Given the description of an element on the screen output the (x, y) to click on. 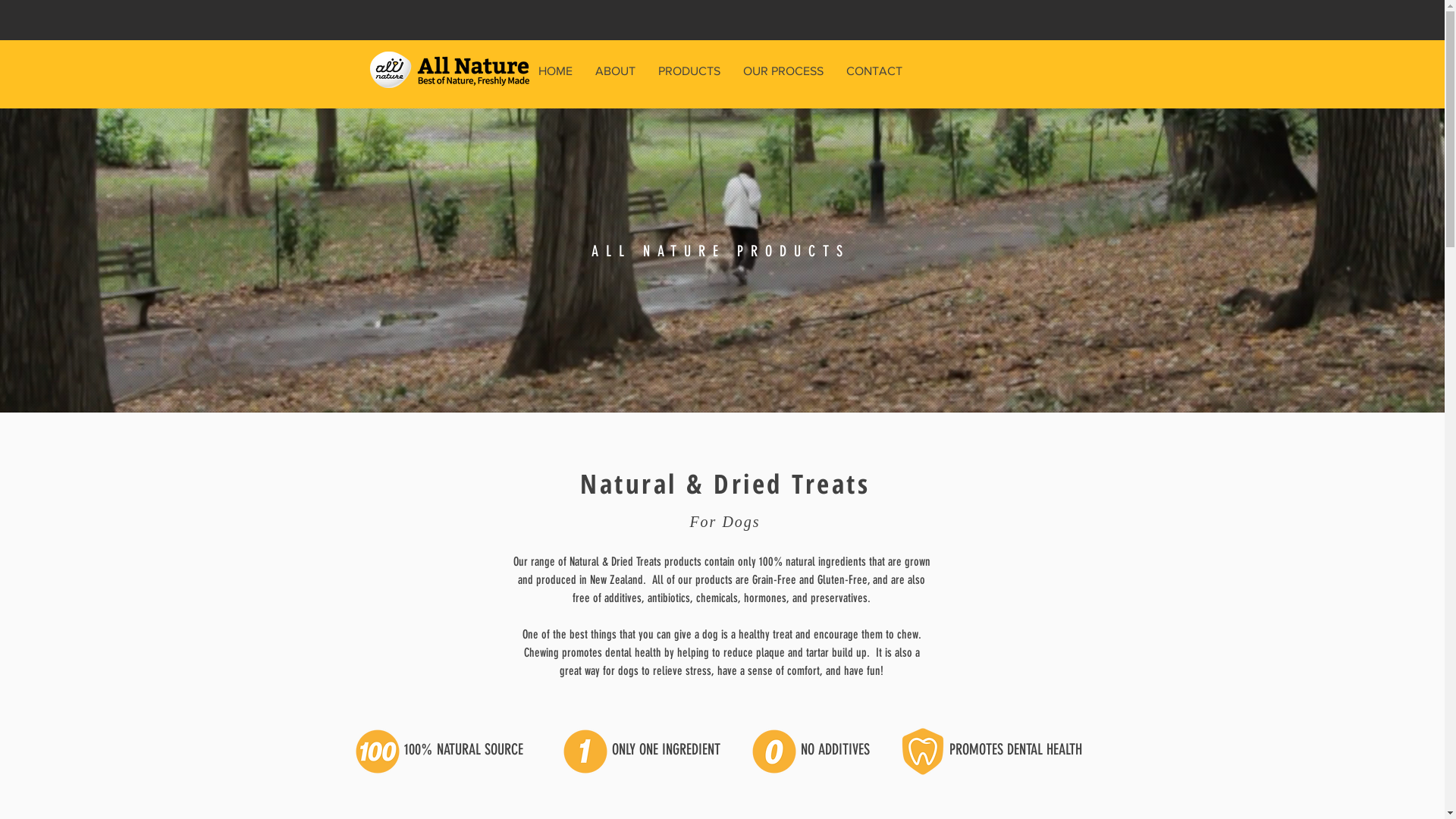
ABOUT Element type: text (614, 70)
PRODUCTS Element type: text (688, 70)
HOME Element type: text (554, 70)
CONTACT Element type: text (873, 70)
OUR PROCESS Element type: text (782, 70)
